Given the description of an element on the screen output the (x, y) to click on. 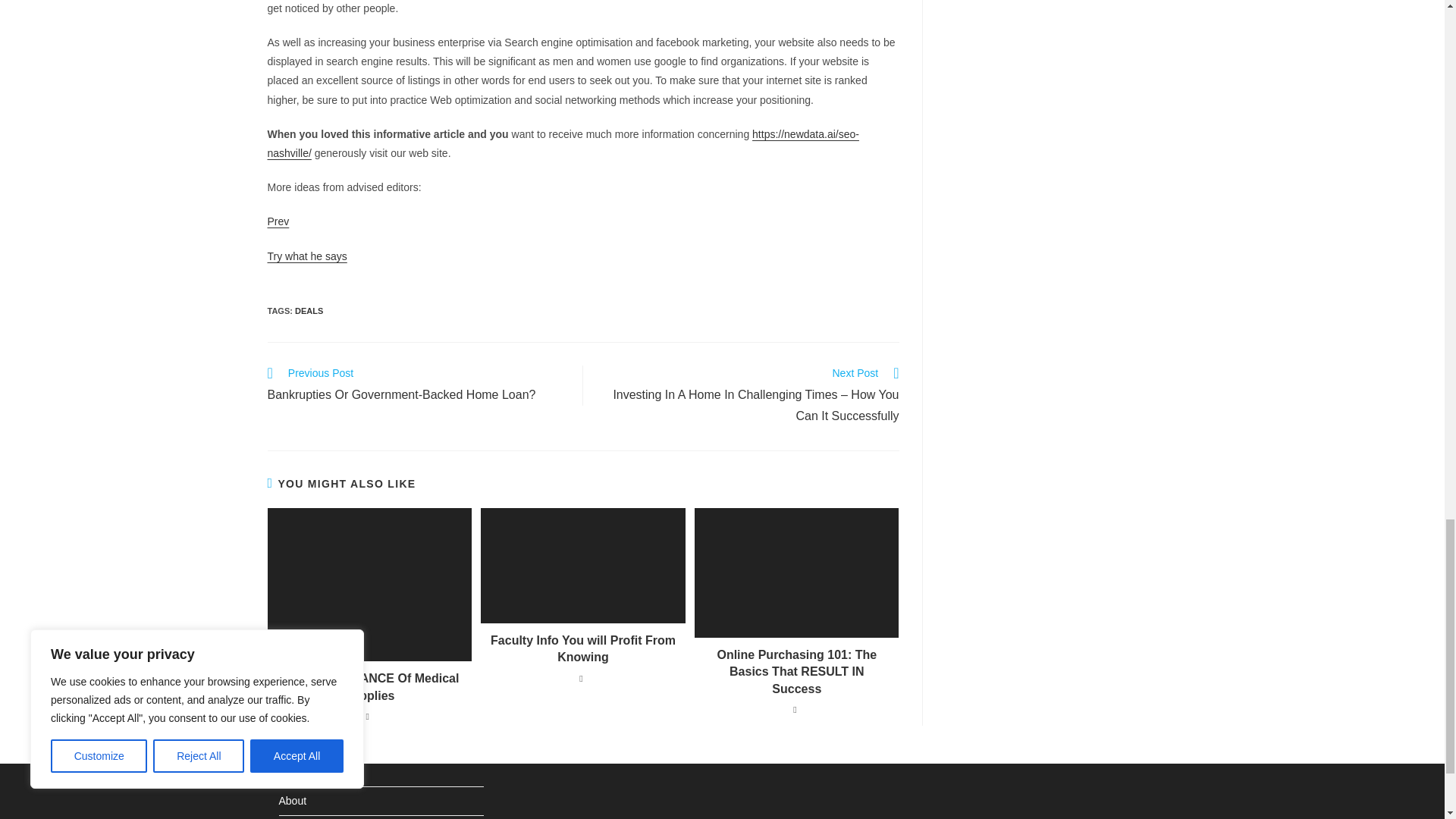
THE SIGNIFICANCE Of Medical Supplies (416, 385)
DEALS (368, 687)
Try what he says (309, 310)
Prev (306, 256)
